Given the description of an element on the screen output the (x, y) to click on. 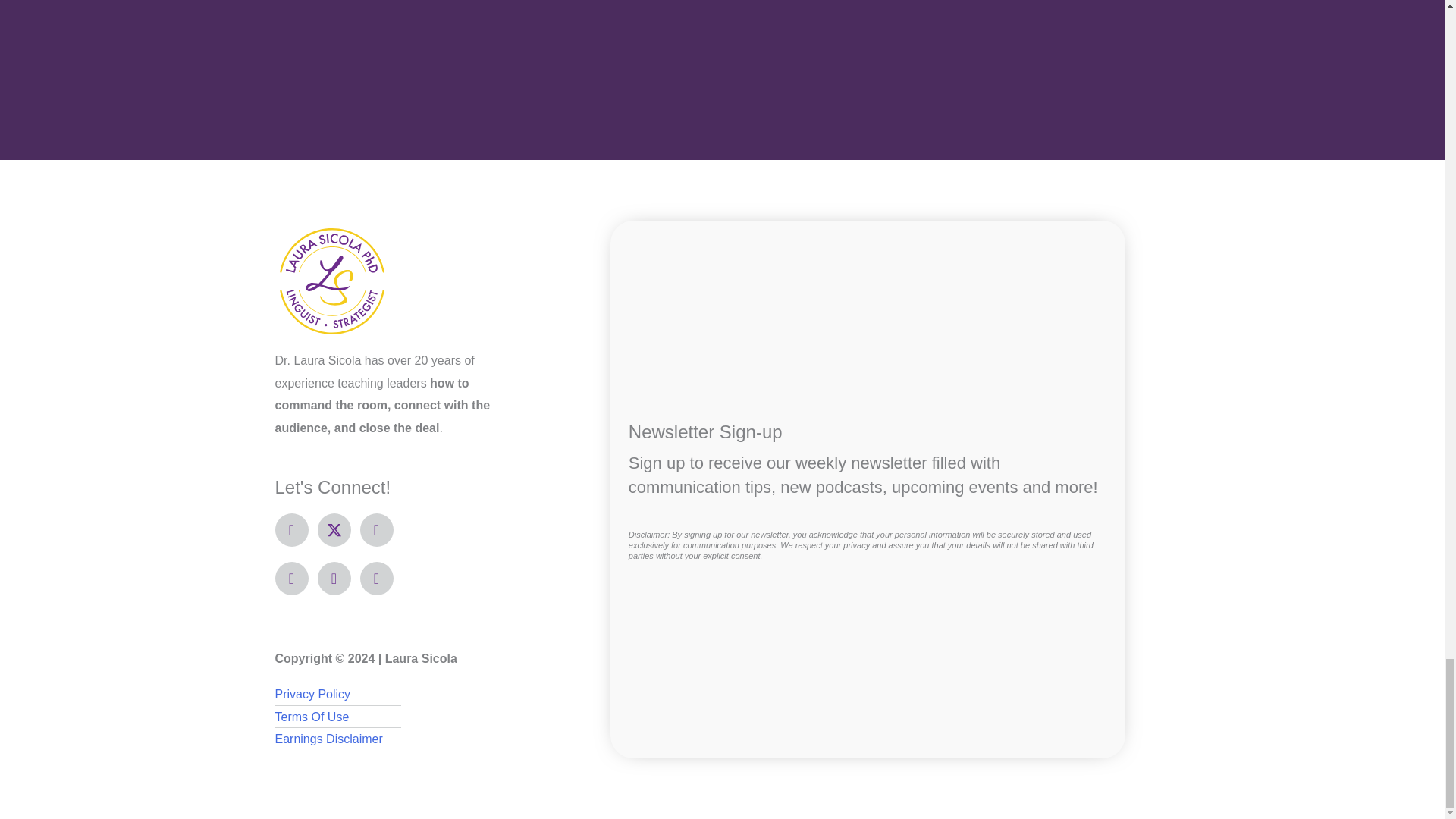
Terms Of Use (400, 716)
Instagram (376, 530)
Linkedin-in (333, 578)
Youtube (291, 578)
Facebook-f (291, 530)
Earnings Disclaimer (400, 739)
Privacy Policy (400, 694)
Tiktok (376, 578)
